Given the description of an element on the screen output the (x, y) to click on. 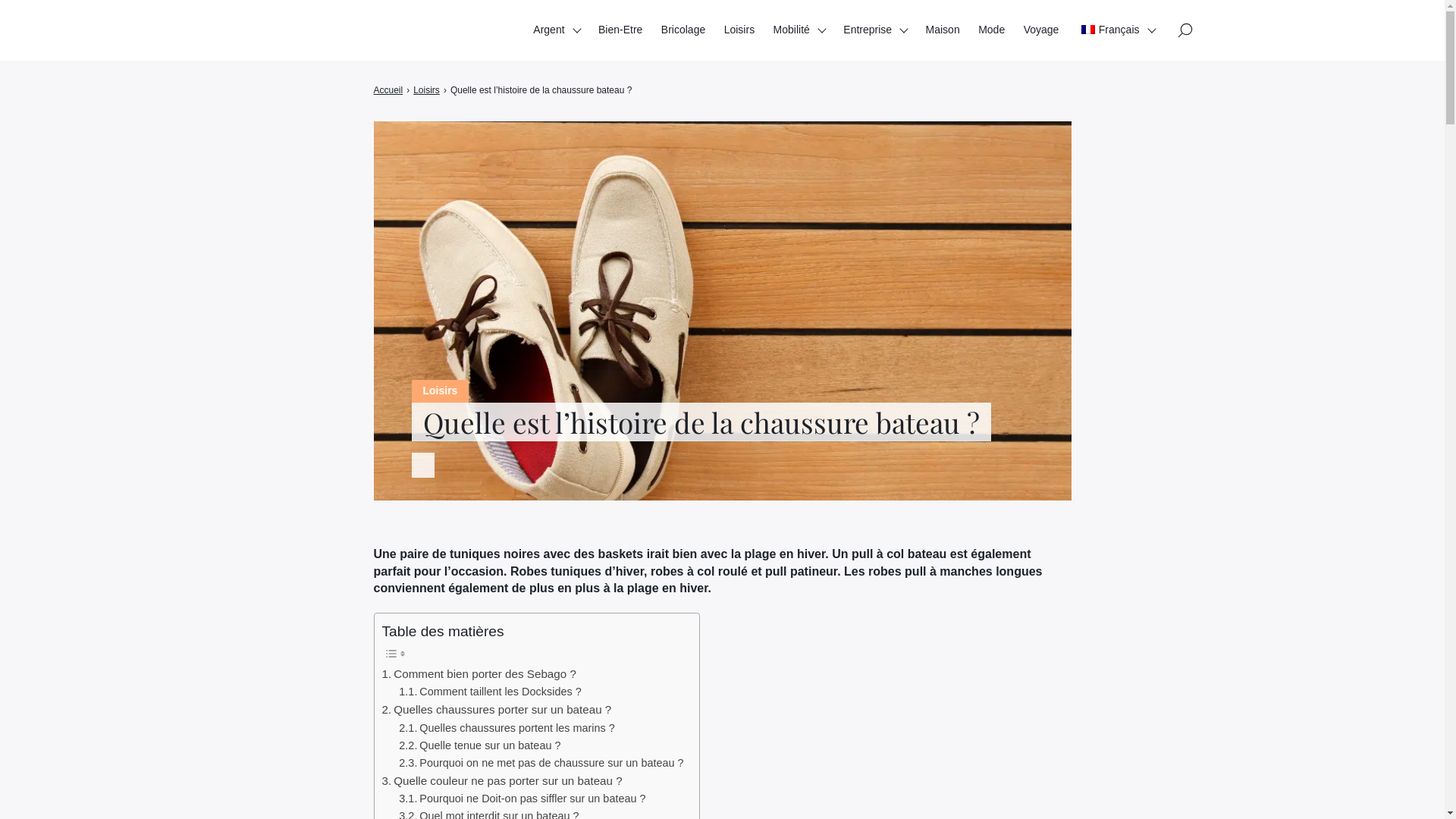
Loisirs Element type: text (426, 89)
Entreprise Element type: text (874, 30)
Voyage Element type: text (1041, 30)
Quelles chaussures porter sur un bateau ? Element type: text (496, 709)
Bien-Etre Element type: text (620, 30)
Accueil Element type: text (387, 89)
Bricolage Element type: text (683, 30)
Comment bien porter des Sebago ? Element type: text (479, 674)
Comment taillent les Docksides ? Element type: text (489, 691)
Pourquoi ne Doit-on pas siffler sur un bateau ? Element type: text (521, 798)
Argent Element type: text (556, 30)
Quelle couleur ne pas porter sur un bateau ? Element type: text (502, 780)
Loisirs Element type: text (739, 30)
Quelle tenue sur un bateau ? Element type: text (479, 745)
Pourquoi on ne met pas de chaussure sur un bateau ? Element type: text (540, 762)
Mode Element type: text (991, 30)
Maison Element type: text (942, 30)
Quelles chaussures portent les marins ? Element type: text (506, 728)
